Given the description of an element on the screen output the (x, y) to click on. 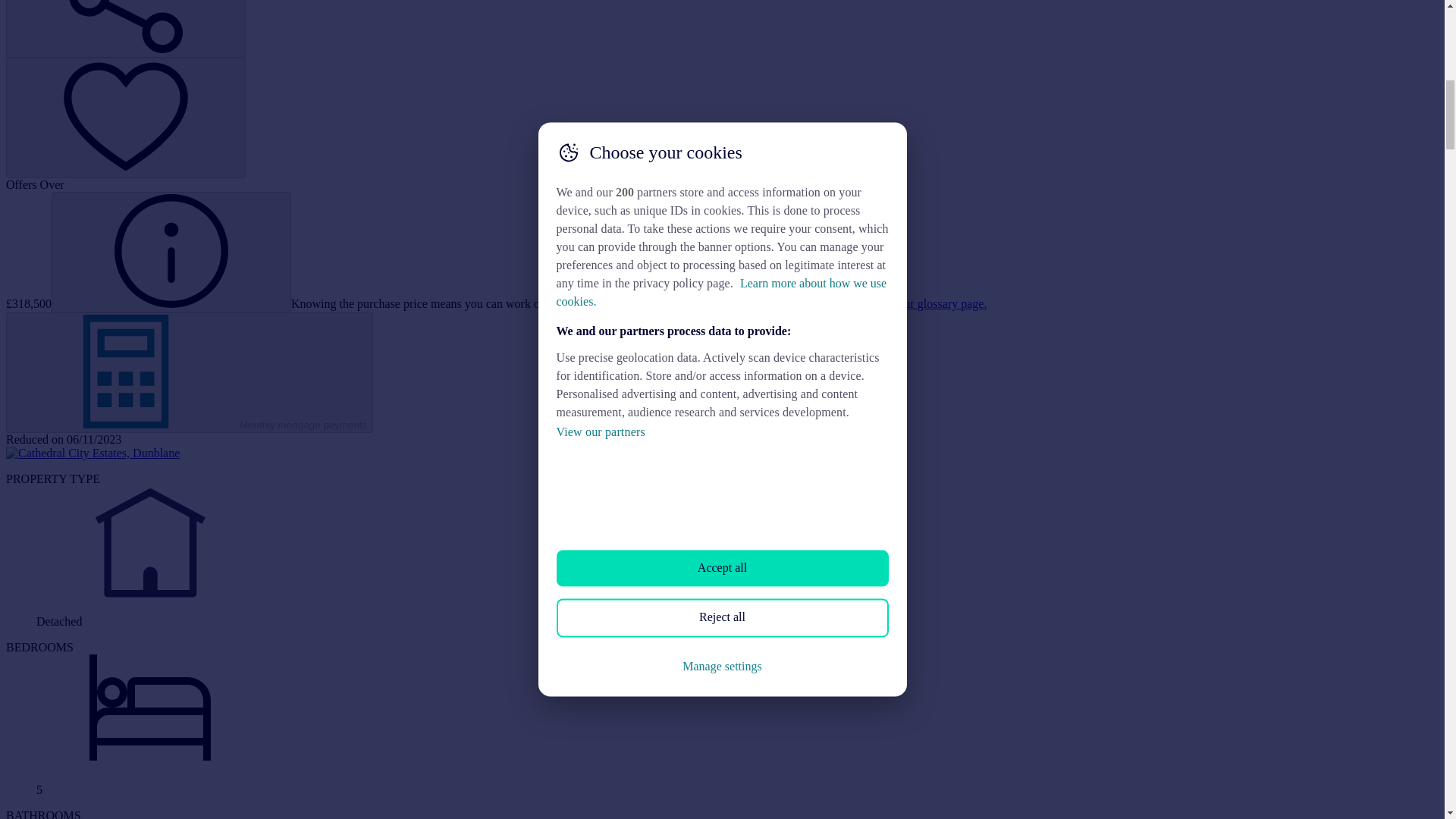
Save this property (125, 117)
Share this property (125, 28)
